Given the description of an element on the screen output the (x, y) to click on. 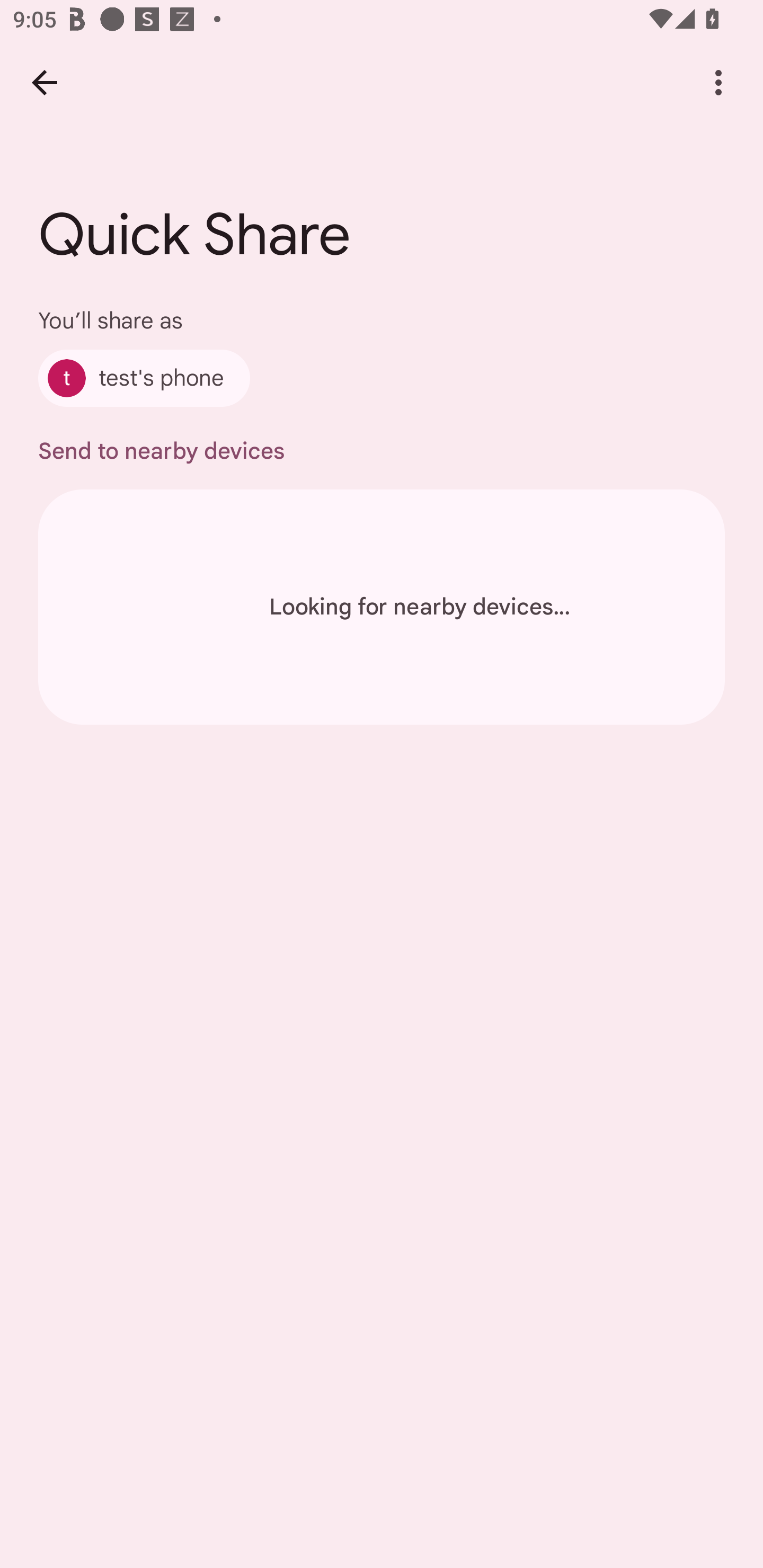
Back (44, 81)
More (718, 81)
test's phone (144, 378)
